Given the description of an element on the screen output the (x, y) to click on. 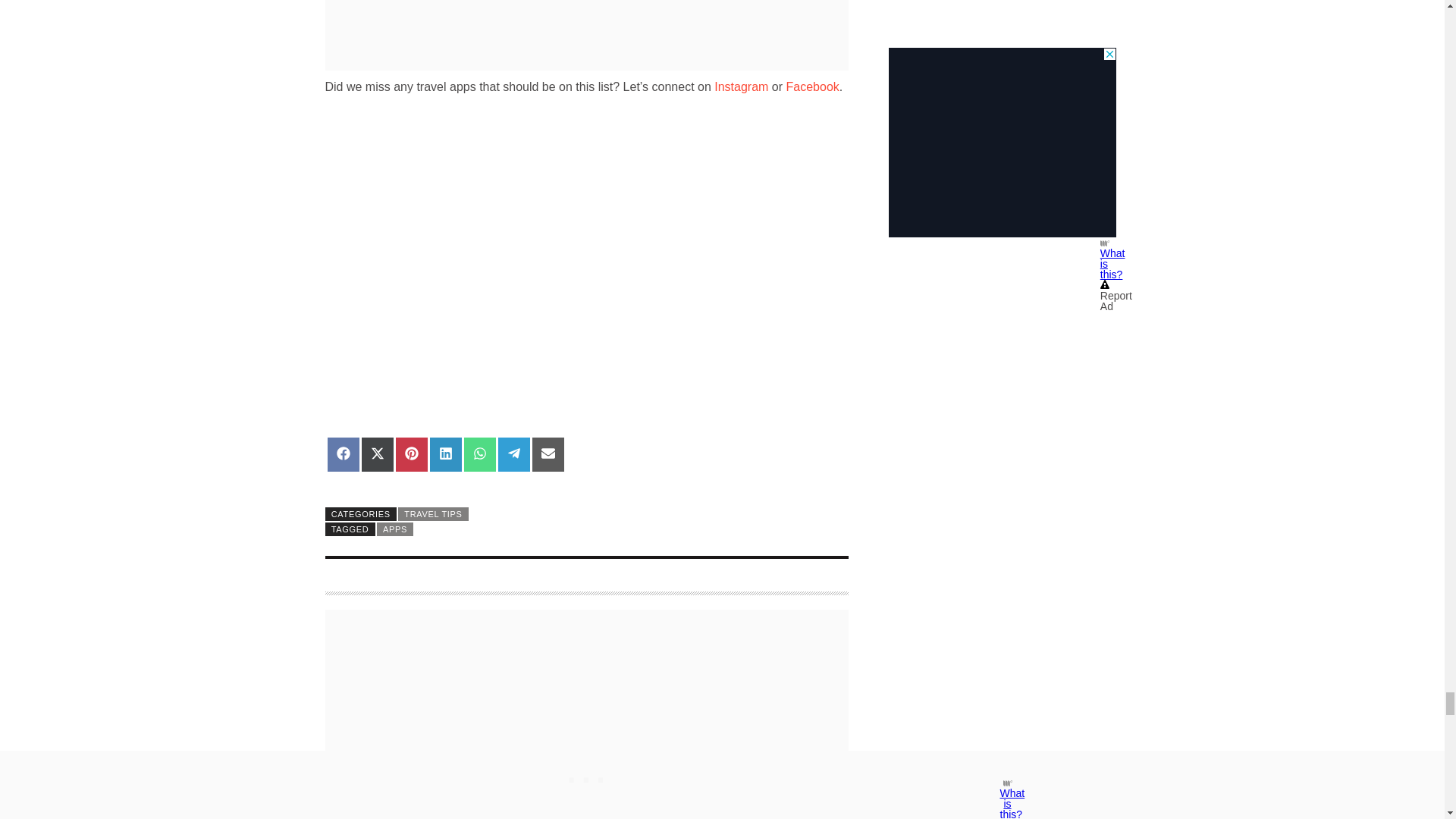
View all posts in TRAVEL TIPS (432, 513)
View all posts tagged apps (395, 529)
